Given the description of an element on the screen output the (x, y) to click on. 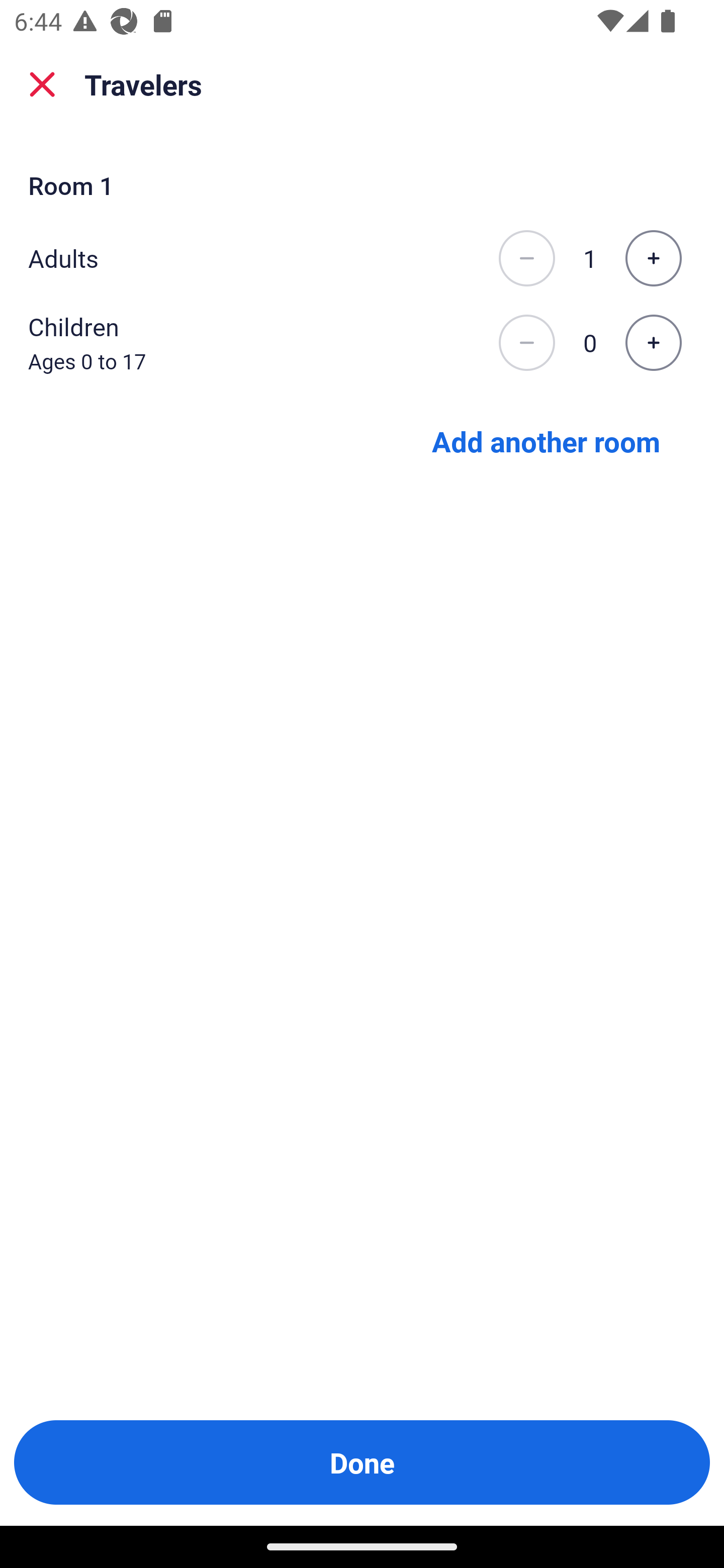
close (42, 84)
Decrease the number of adults (526, 258)
Increase the number of adults (653, 258)
Decrease the number of children (526, 343)
Increase the number of children (653, 343)
Add another room (545, 440)
Done (361, 1462)
